Given the description of an element on the screen output the (x, y) to click on. 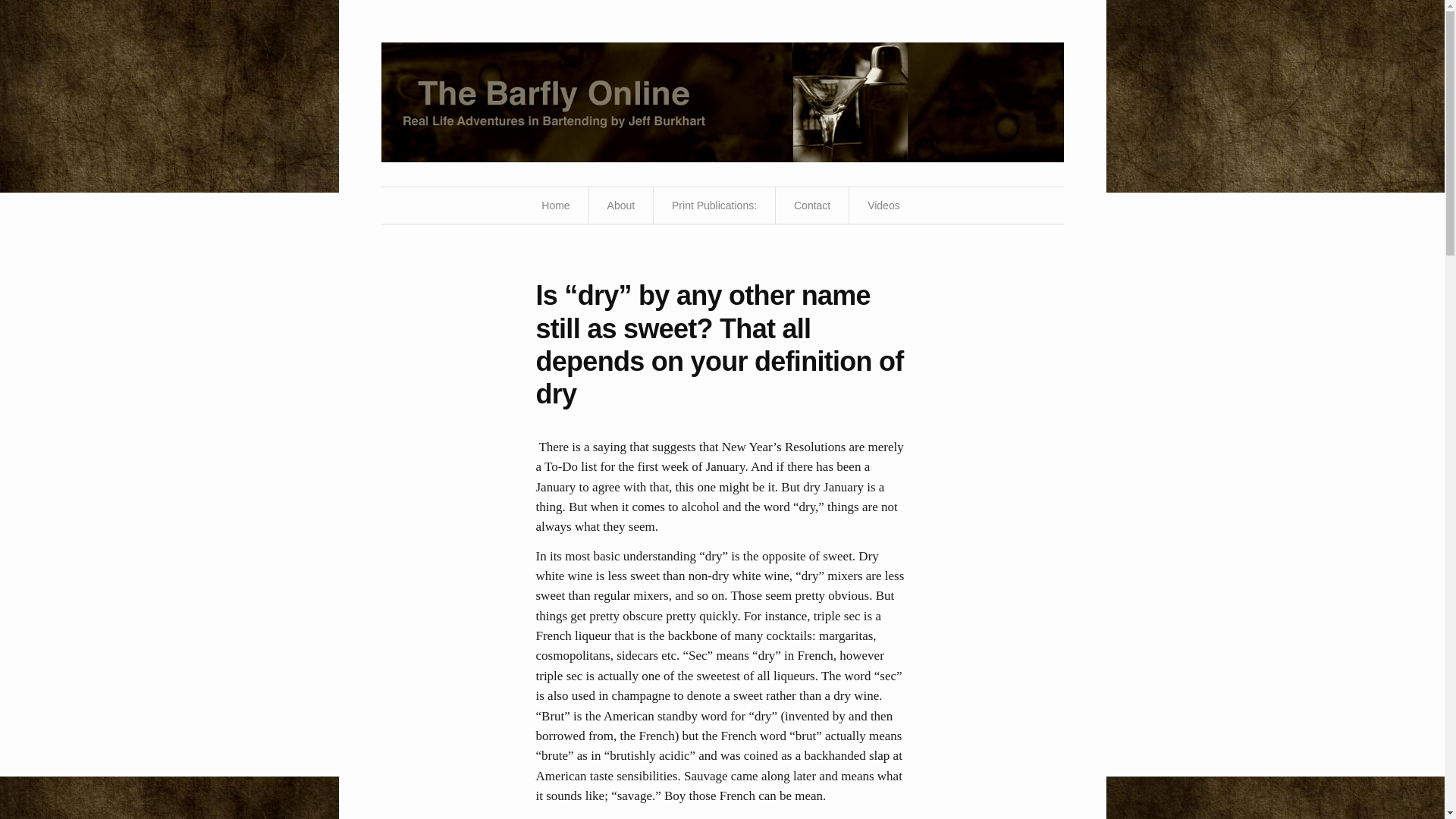
Contact (811, 205)
Home (721, 102)
Print Publications: (714, 205)
Videos (883, 205)
